Given the description of an element on the screen output the (x, y) to click on. 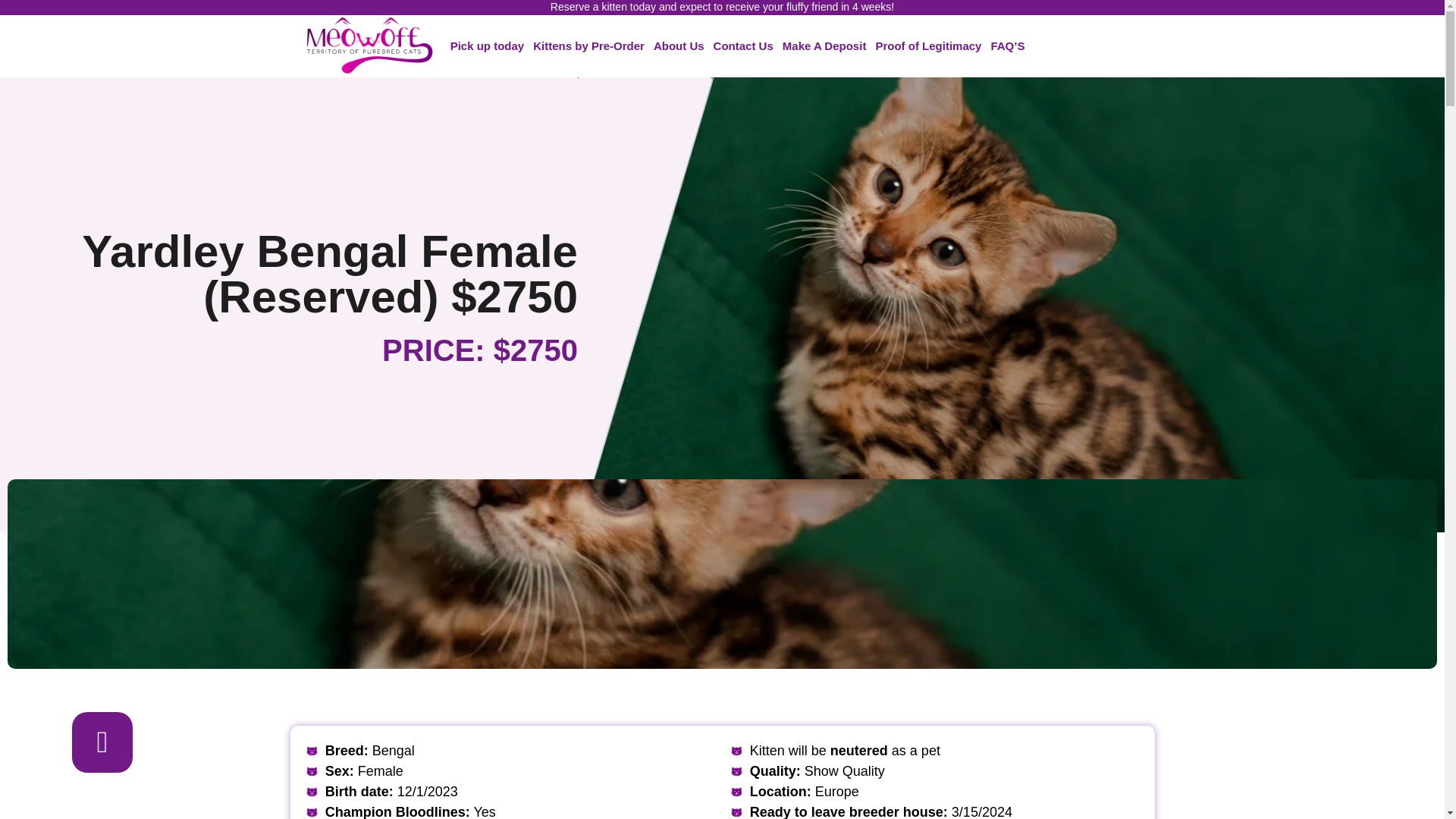
Make A Deposit (823, 46)
Kittens by Pre-Order (588, 46)
About Us (679, 46)
Pick up today (487, 46)
Contact Us (743, 46)
Proof of Legitimacy (927, 46)
